Given the description of an element on the screen output the (x, y) to click on. 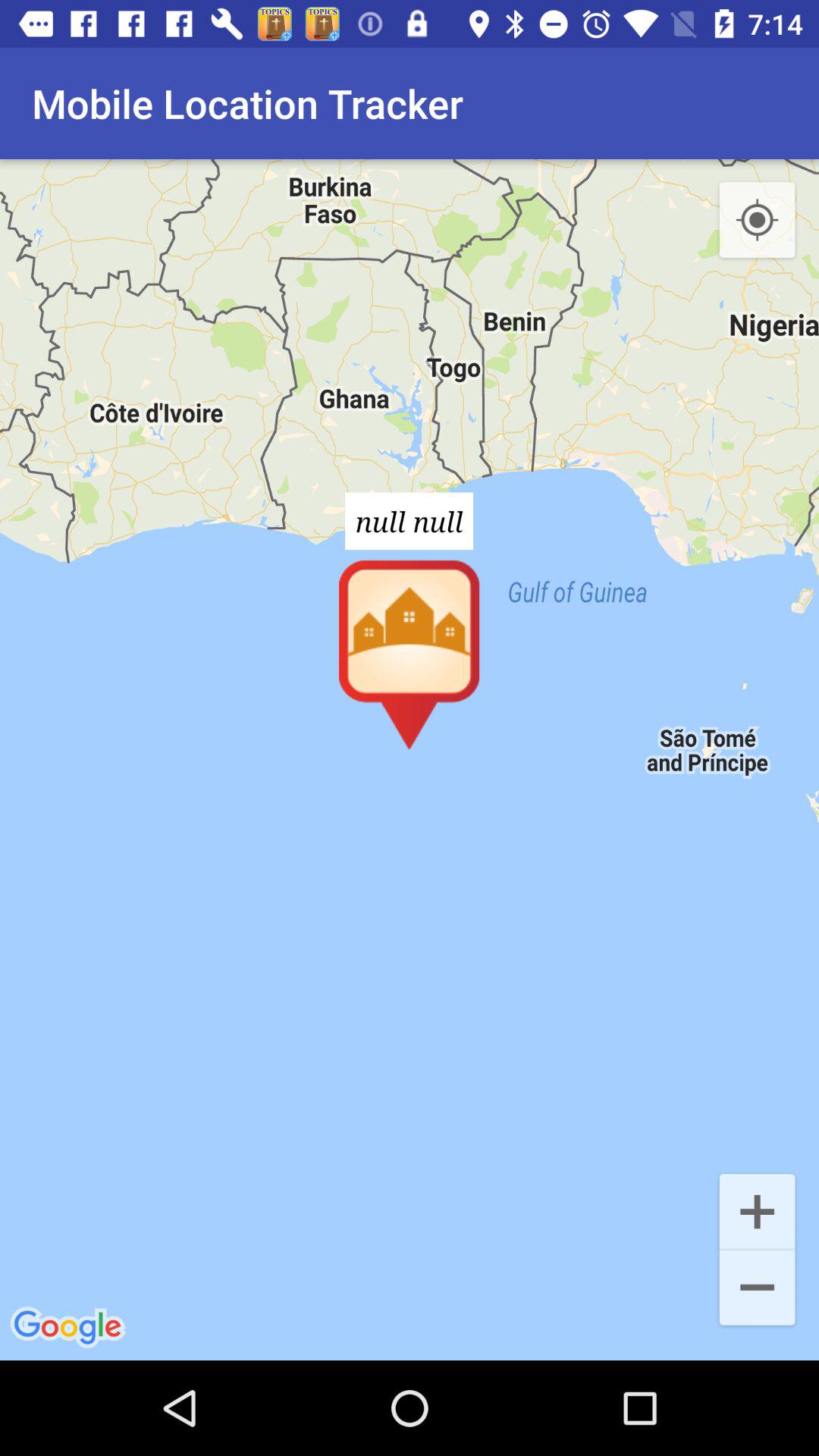
turn on the icon at the top right corner (757, 220)
